Given the description of an element on the screen output the (x, y) to click on. 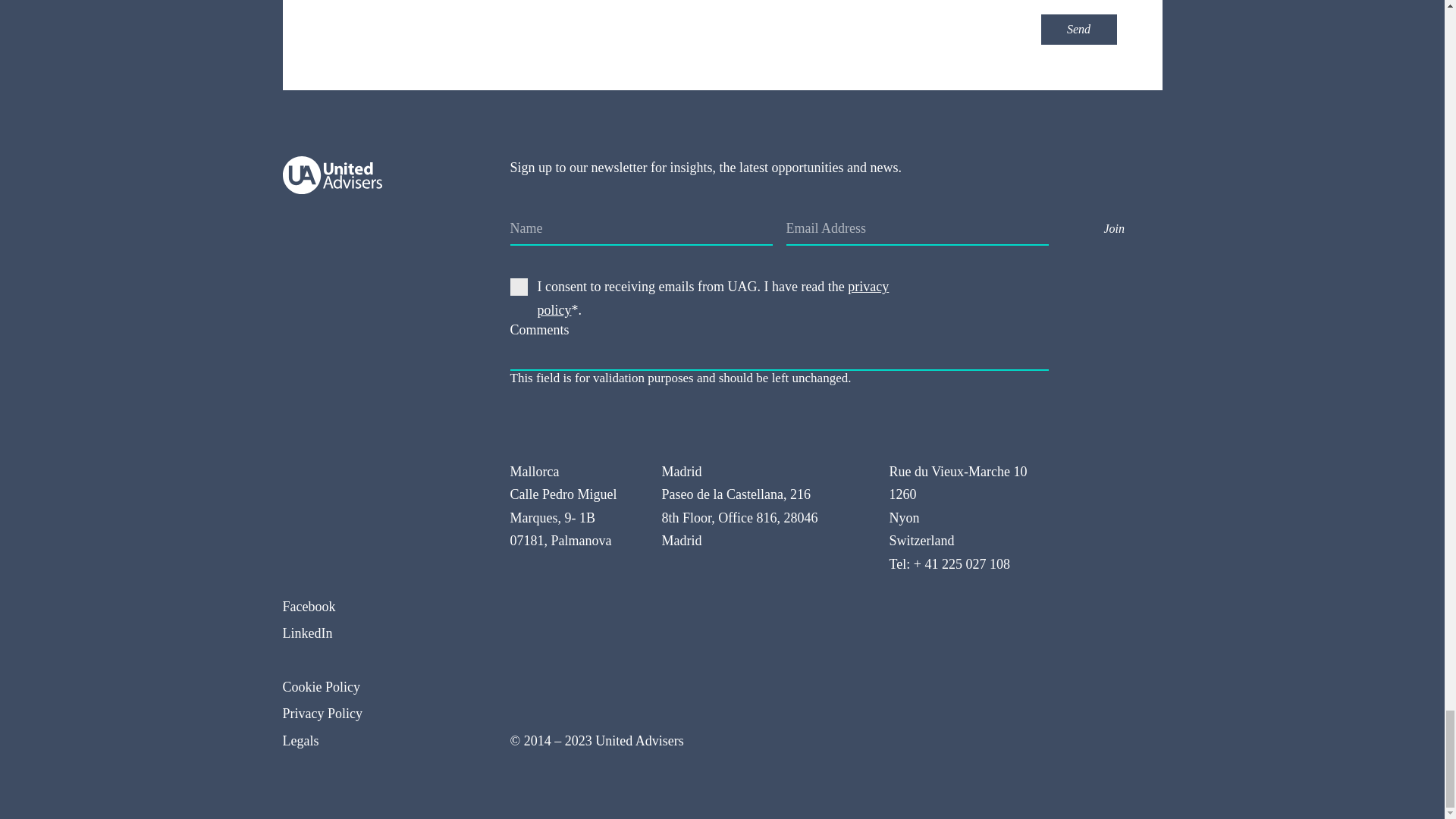
LinkedIn (380, 633)
Join (1114, 228)
privacy policy (712, 298)
Privacy Policy (380, 713)
Send (1078, 29)
Legals (380, 740)
Cookie Policy (380, 687)
Send (1078, 29)
Join (1114, 228)
Facebook (380, 607)
